Given the description of an element on the screen output the (x, y) to click on. 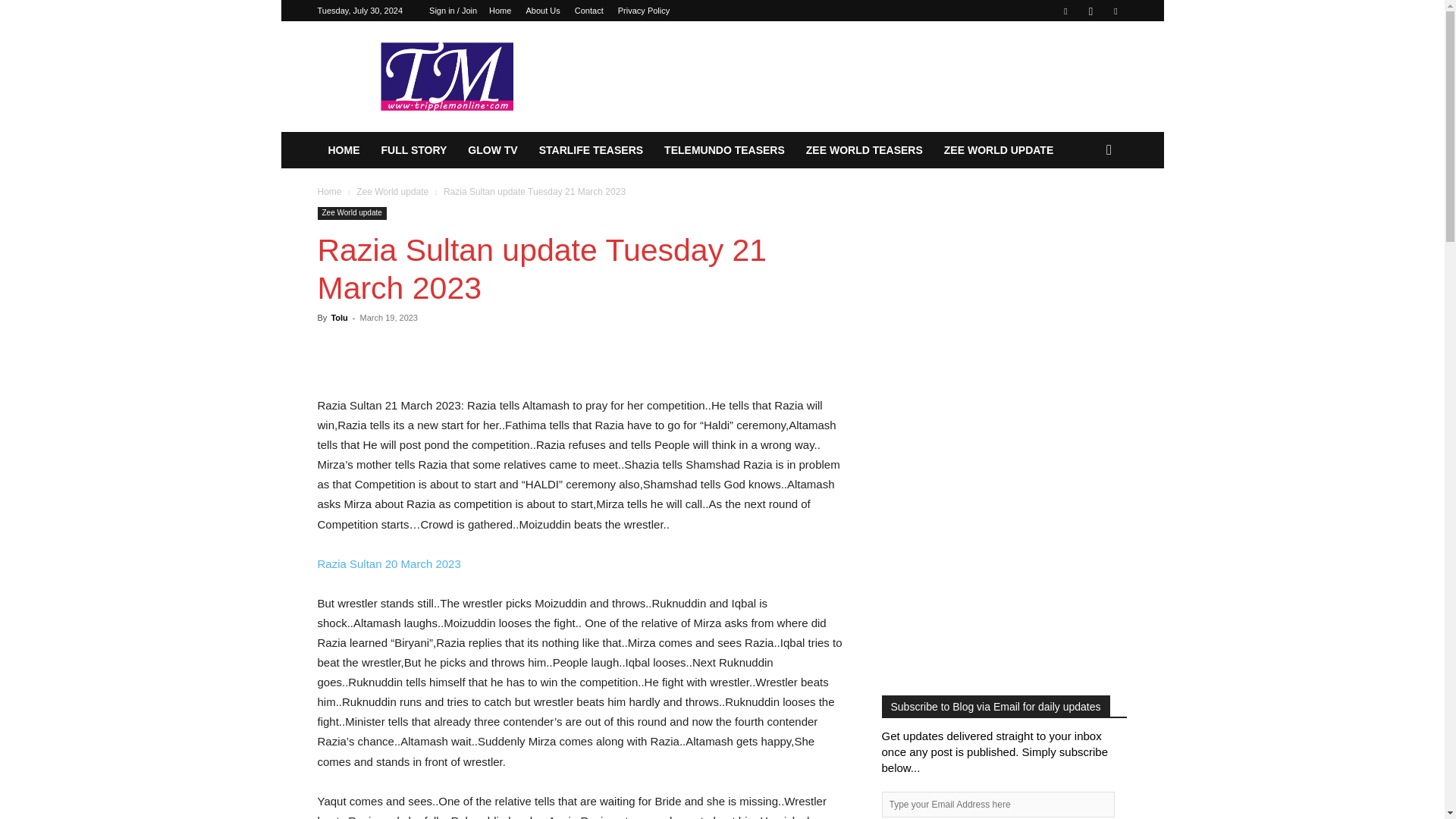
Home (500, 10)
View all posts in Zee World update (392, 191)
STARLIFE TEASERS (590, 149)
Search (1085, 210)
About Us (542, 10)
Zee World update (392, 191)
Home (328, 191)
Twitter (1114, 10)
TELEMUNDO TEASERS (723, 149)
Instagram (1090, 10)
FULL STORY (413, 149)
Zee World update (351, 213)
Contact (589, 10)
Facebook (1065, 10)
ZEE WORLD TEASERS (863, 149)
